Given the description of an element on the screen output the (x, y) to click on. 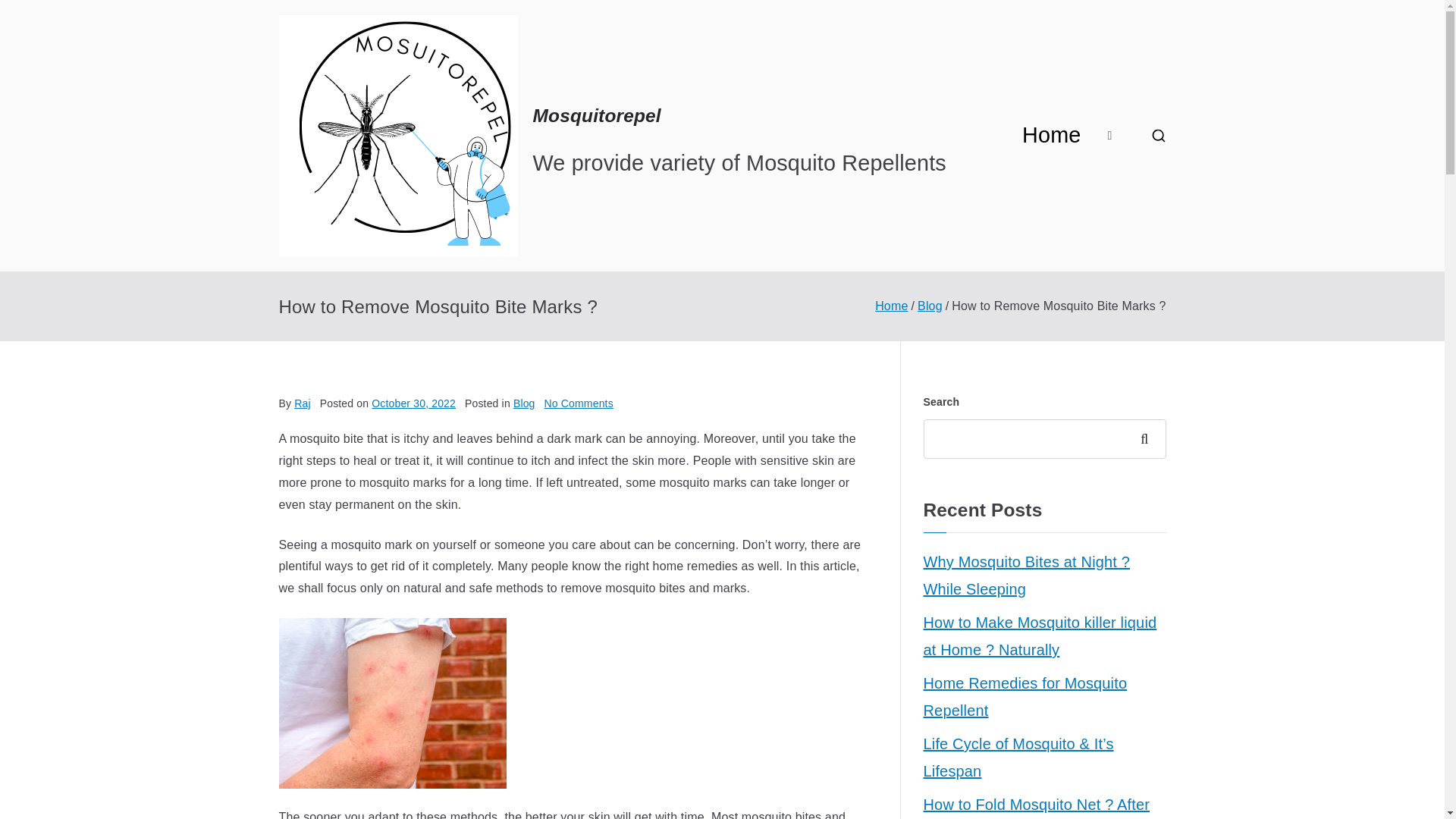
Raj (302, 403)
Home (1051, 135)
Search (26, 12)
October 30, 2022 (578, 403)
Home (413, 403)
Blog (891, 305)
Blog (524, 403)
Mosquitorepel (929, 305)
